Given the description of an element on the screen output the (x, y) to click on. 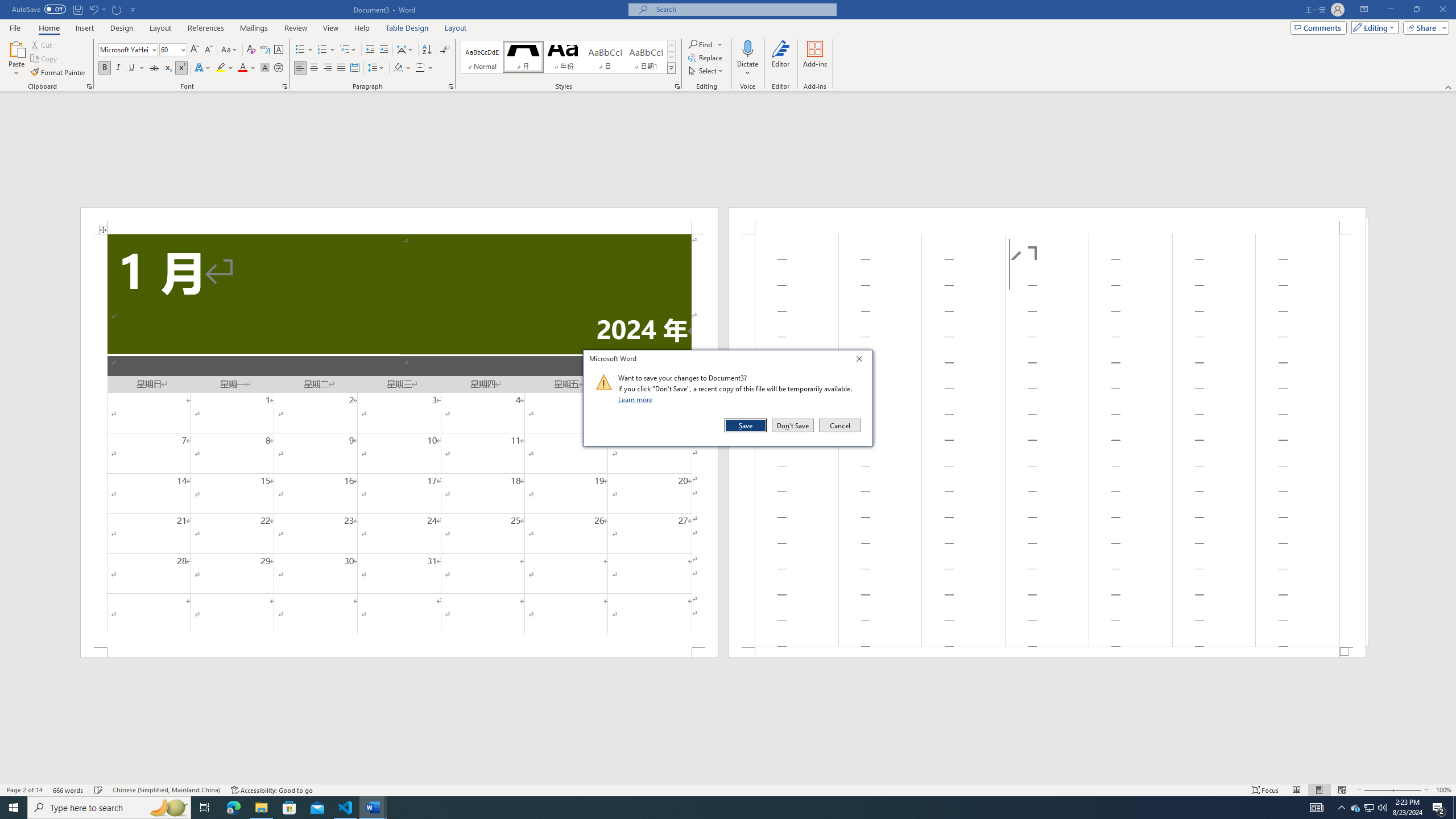
Repeat Superscript (117, 9)
Learn more (636, 399)
